Given the description of an element on the screen output the (x, y) to click on. 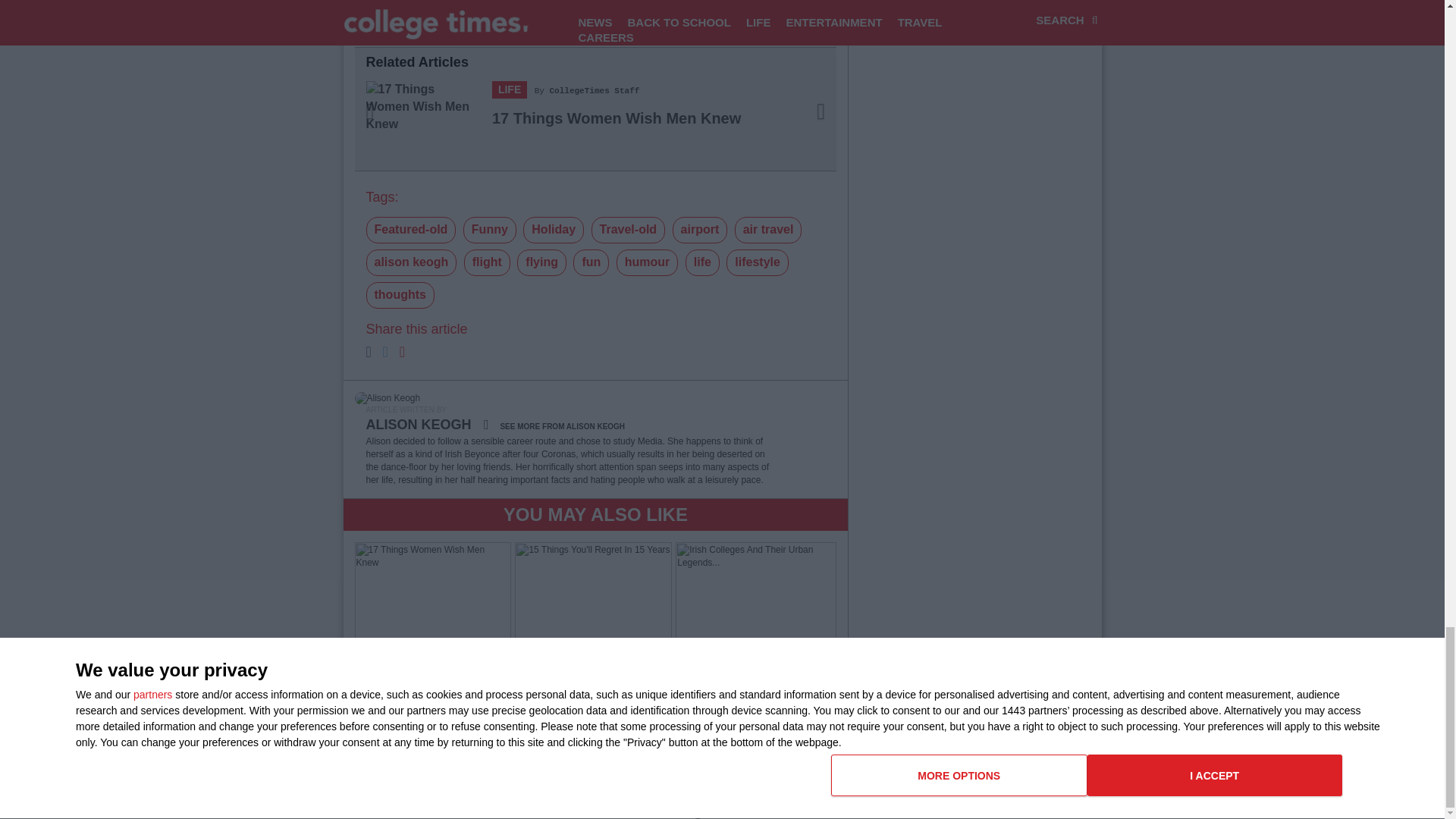
airport (700, 230)
alison keogh (411, 262)
Featured-old (410, 230)
Next (799, 119)
Funny (489, 230)
Previous (390, 119)
LIFE (509, 89)
Travel-old (628, 230)
CollegeTimes Staff (595, 90)
Holiday (552, 230)
17 Things Women Wish Men Knew (616, 117)
air travel (768, 230)
